Given the description of an element on the screen output the (x, y) to click on. 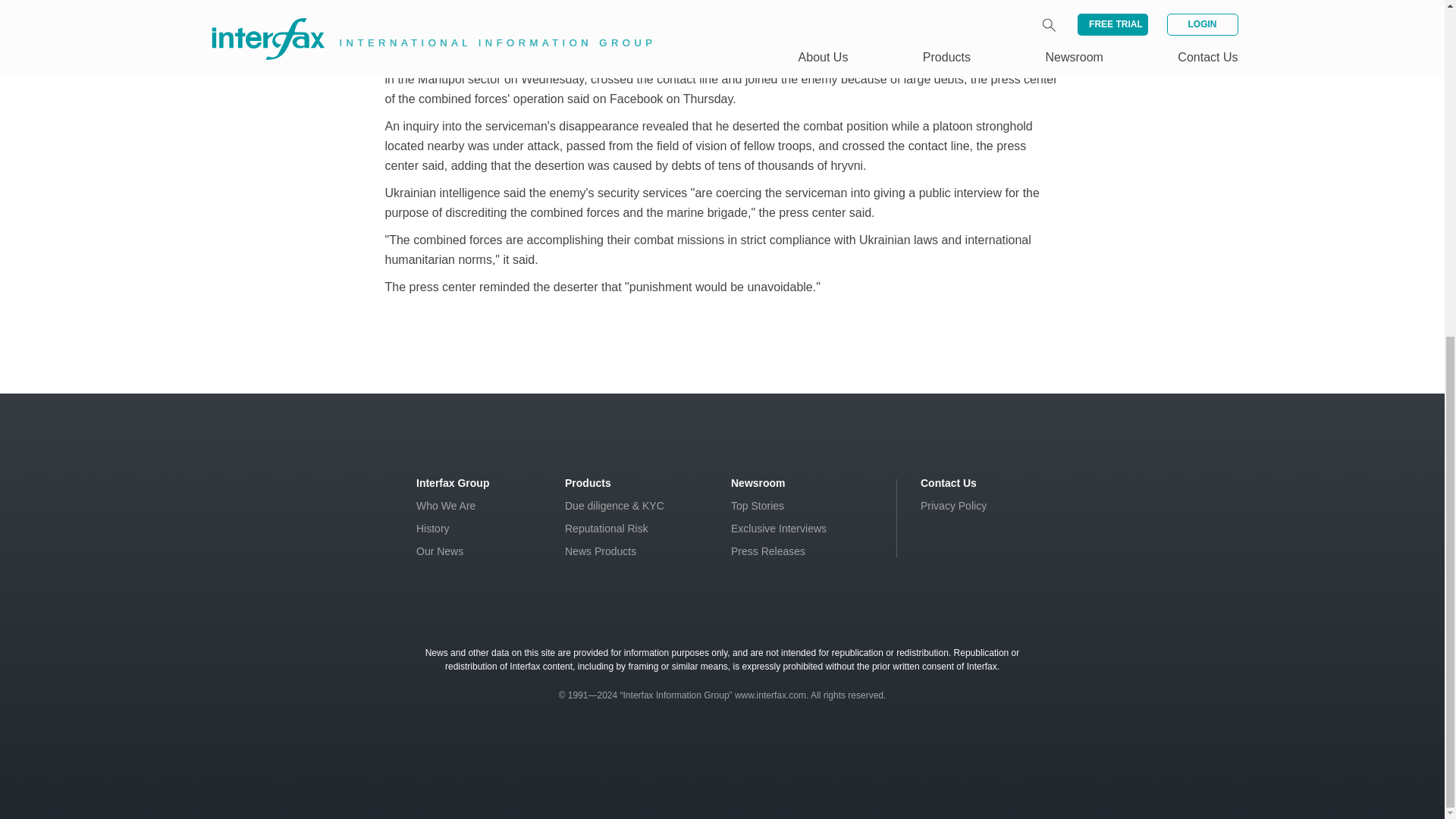
Our News (439, 551)
Who We Are (446, 505)
Interfax Group (452, 482)
History (432, 528)
